Given the description of an element on the screen output the (x, y) to click on. 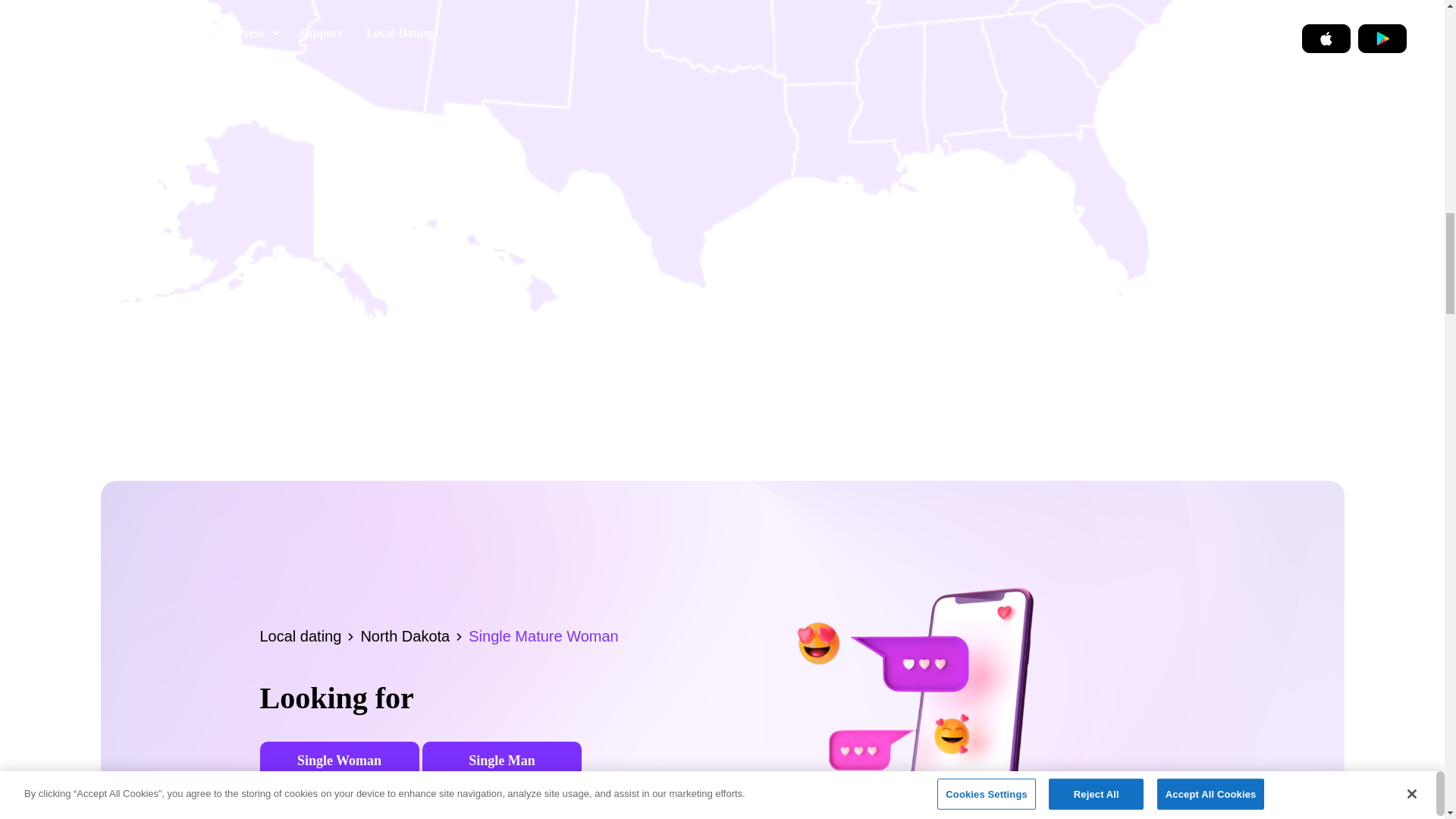
North Dakota (413, 636)
Single Woman (339, 761)
Local dating (309, 636)
Single Man (501, 761)
